Given the description of an element on the screen output the (x, y) to click on. 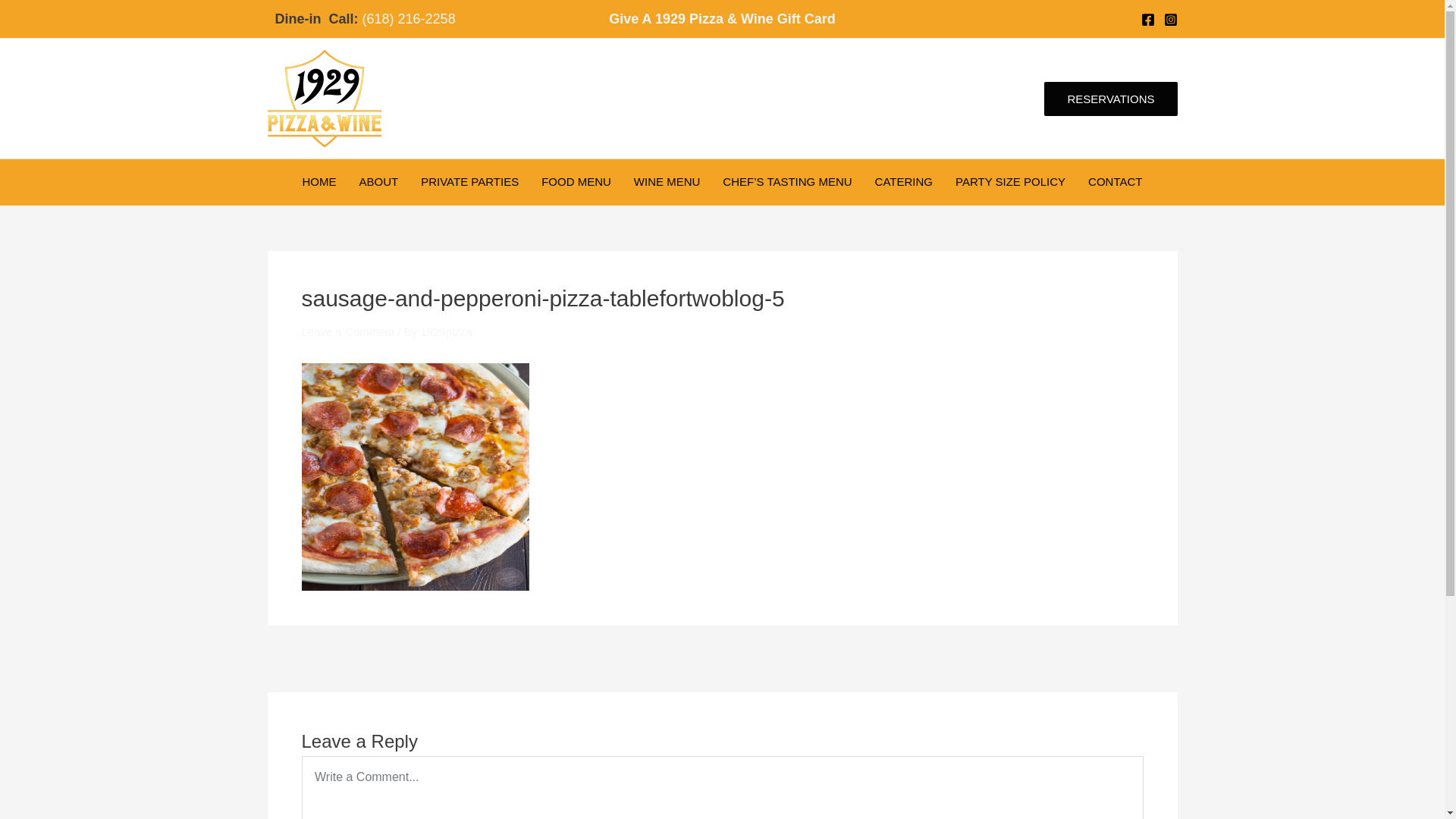
(618) 216-2258 Element type: text (408, 18)
PARTY SIZE POLICY Element type: text (1010, 181)
HOME Element type: text (319, 181)
CATERING Element type: text (903, 181)
Leave a Comment Element type: text (348, 331)
ABOUT Element type: text (379, 181)
RESERVATIONS Element type: text (1110, 98)
WINE MENU Element type: text (667, 181)
PRIVATE PARTIES Element type: text (469, 181)
FOOD MENU Element type: text (576, 181)
Give A 1929 Pizza & Wine Gift Card Element type: text (721, 18)
1929pizza Element type: text (445, 331)
CONTACT Element type: text (1114, 181)
